Given the description of an element on the screen output the (x, y) to click on. 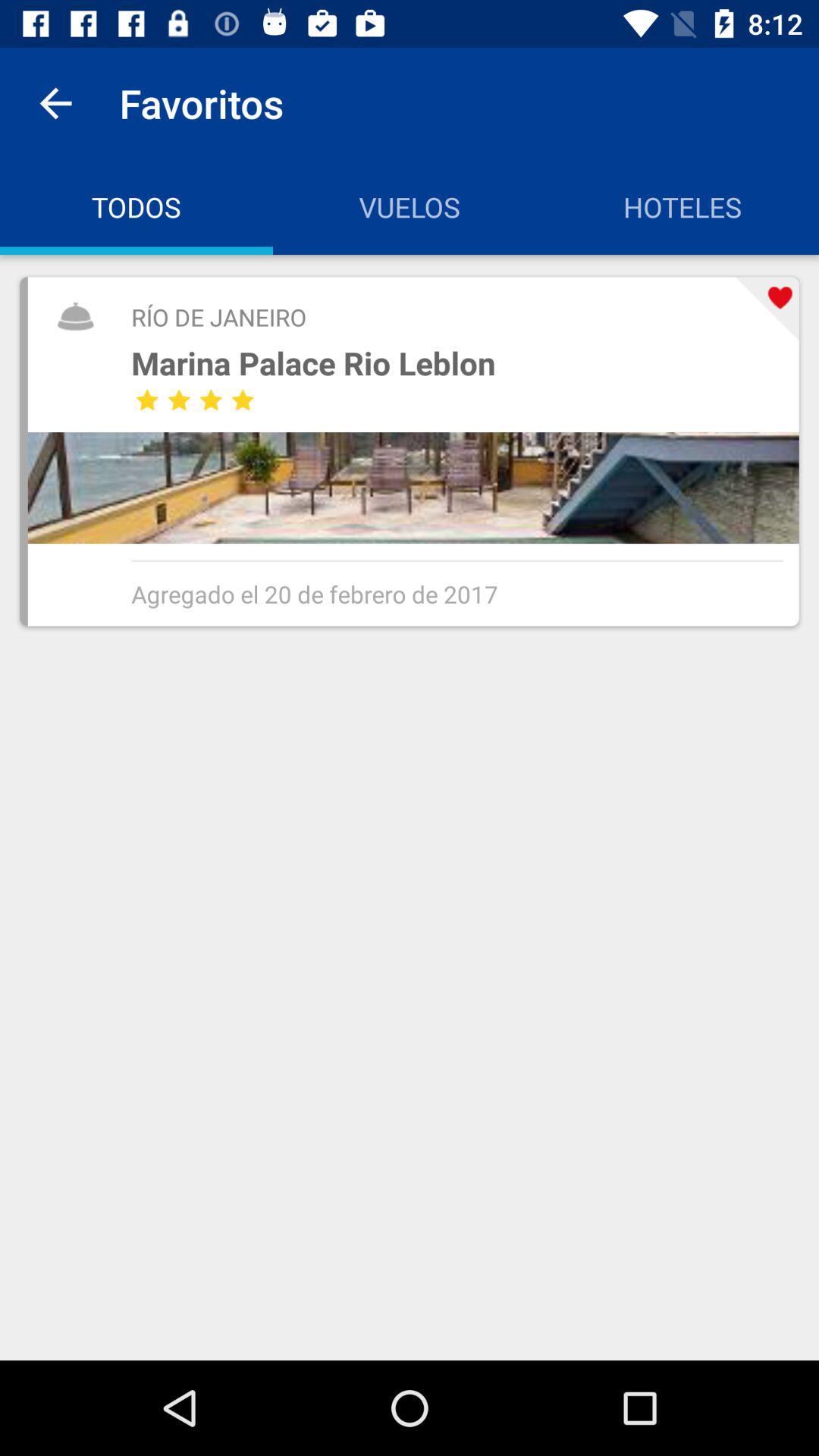
tap icon to the left of favoritos (55, 103)
